Given the description of an element on the screen output the (x, y) to click on. 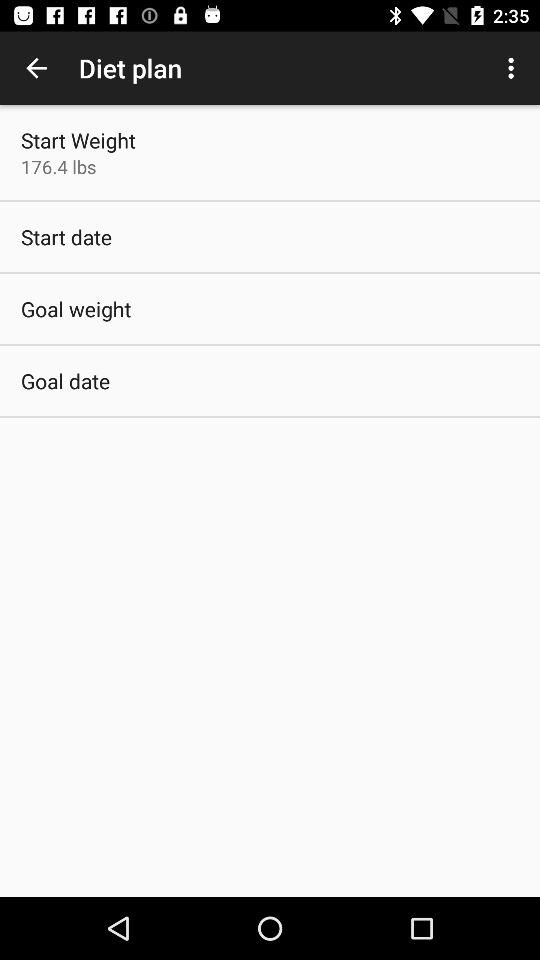
tap the start weight (78, 139)
